Given the description of an element on the screen output the (x, y) to click on. 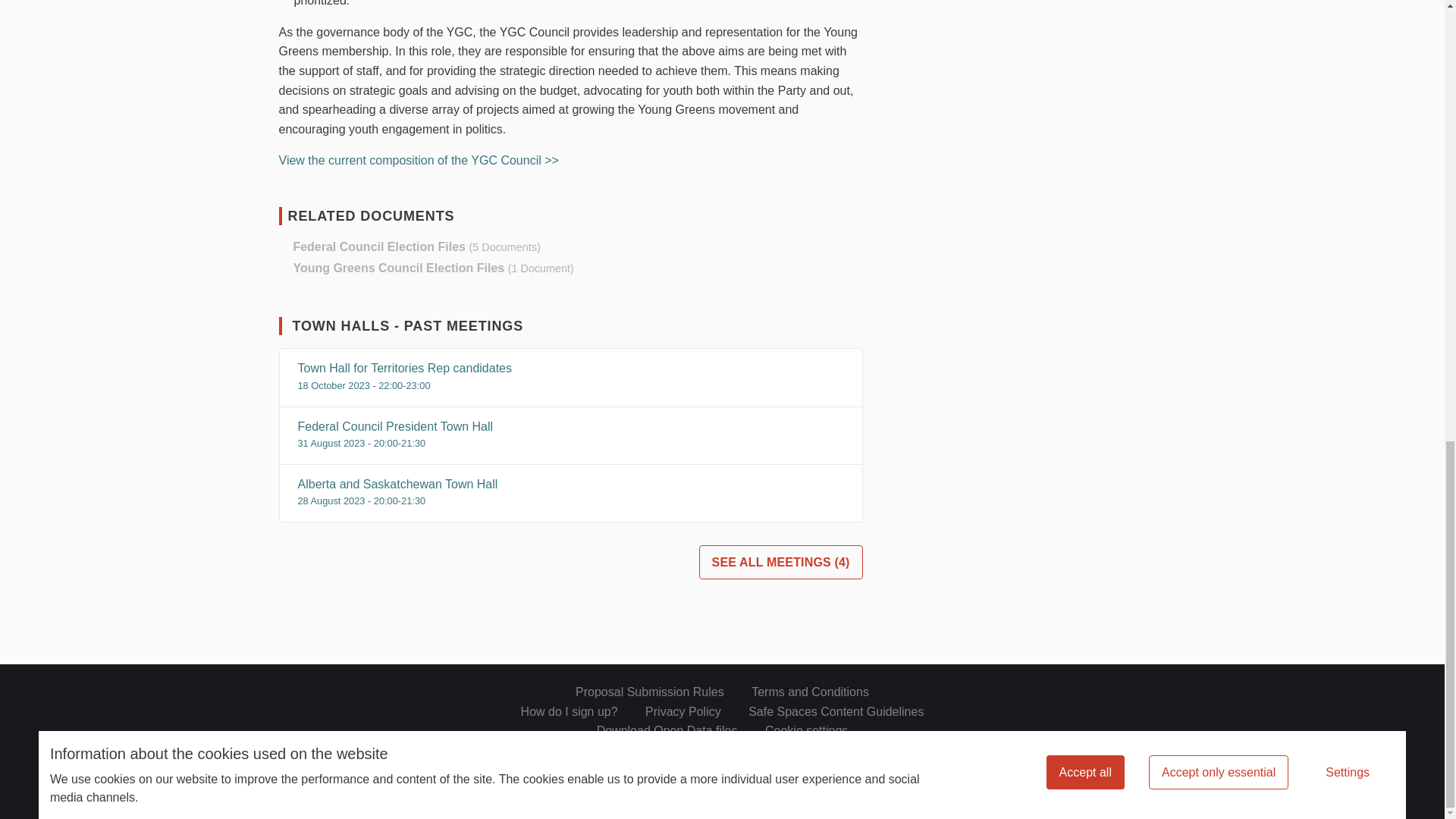
X (1076, 689)
Instagram (1131, 689)
caret-right (282, 246)
caret-right (282, 267)
Facebook (1104, 689)
YouTube (1160, 689)
